Given the description of an element on the screen output the (x, y) to click on. 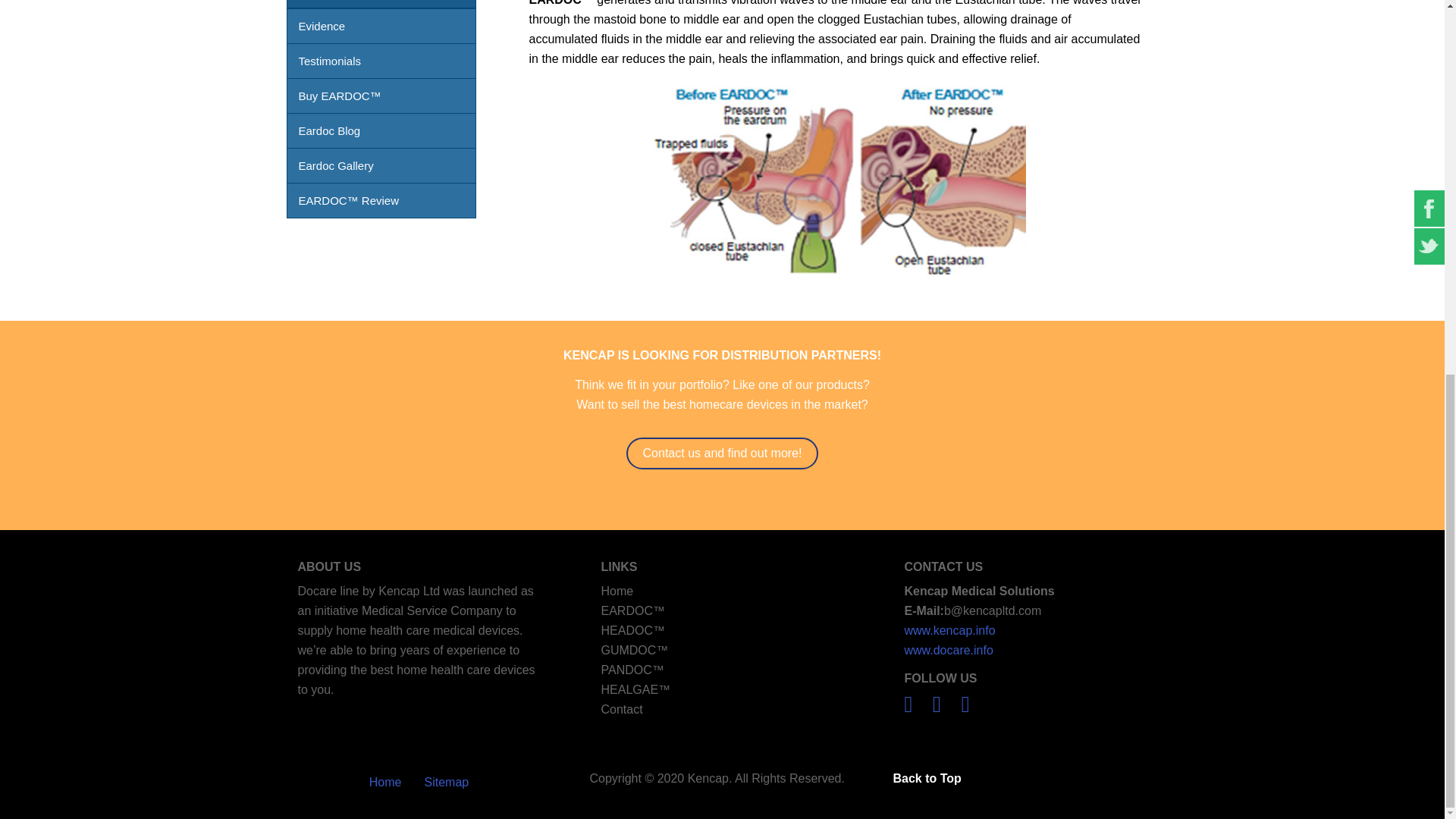
Evidence (381, 25)
Contact Docare Line by Kencap Ltd (620, 708)
Docare Line by Kencap Ltd (616, 590)
Otis Media (381, 4)
